Given the description of an element on the screen output the (x, y) to click on. 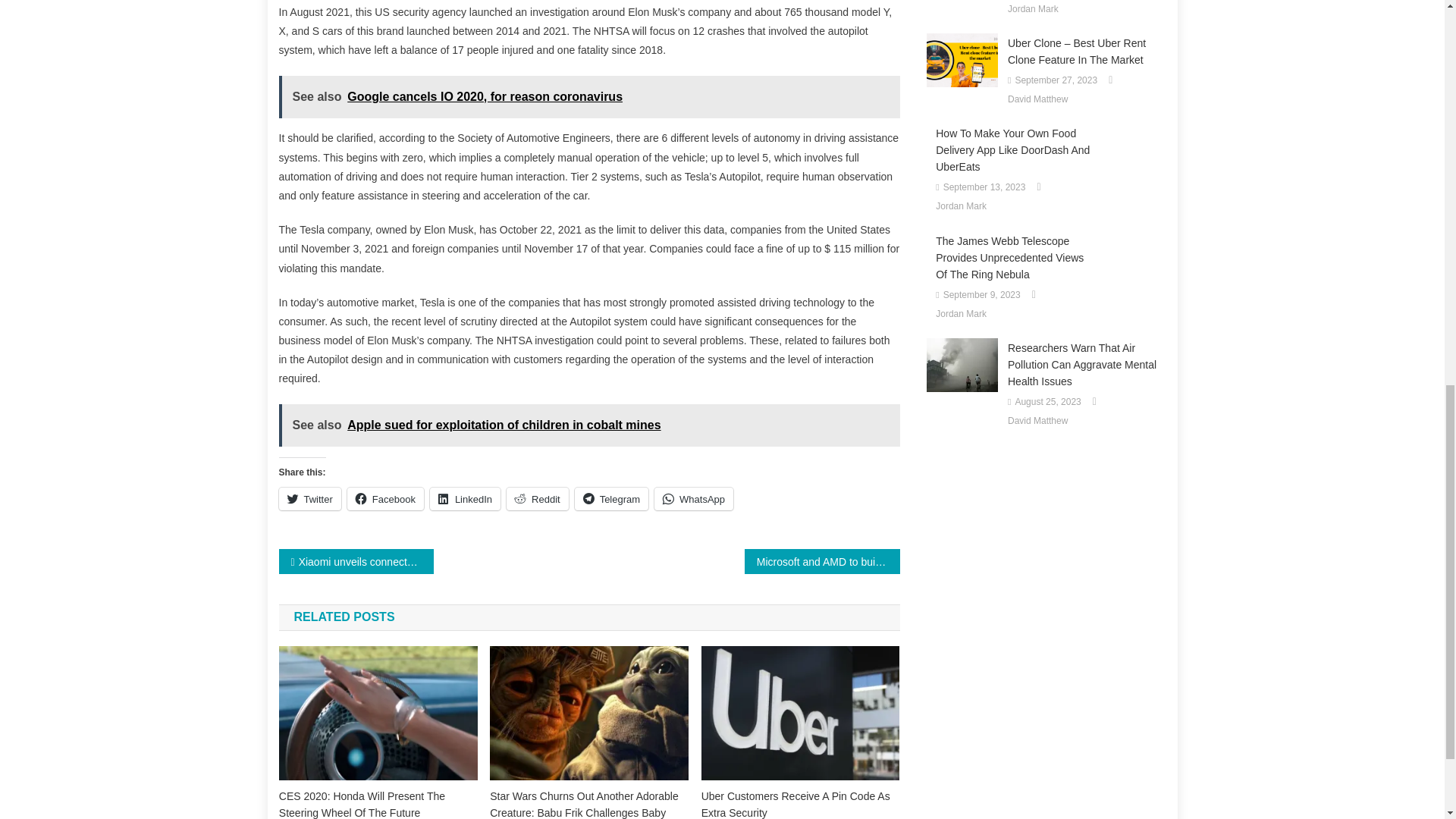
LinkedIn (464, 498)
Telegram (611, 498)
Twitter (309, 498)
Click to share on Reddit (537, 498)
Microsoft and AMD to build ARM chip together (821, 561)
Click to share on Facebook (385, 498)
Click to share on Telegram (611, 498)
Click to share on Twitter (309, 498)
See also  Google cancels IO 2020, for reason coronavirus (589, 97)
Click to share on LinkedIn (464, 498)
WhatsApp (693, 498)
Facebook (385, 498)
